Given the description of an element on the screen output the (x, y) to click on. 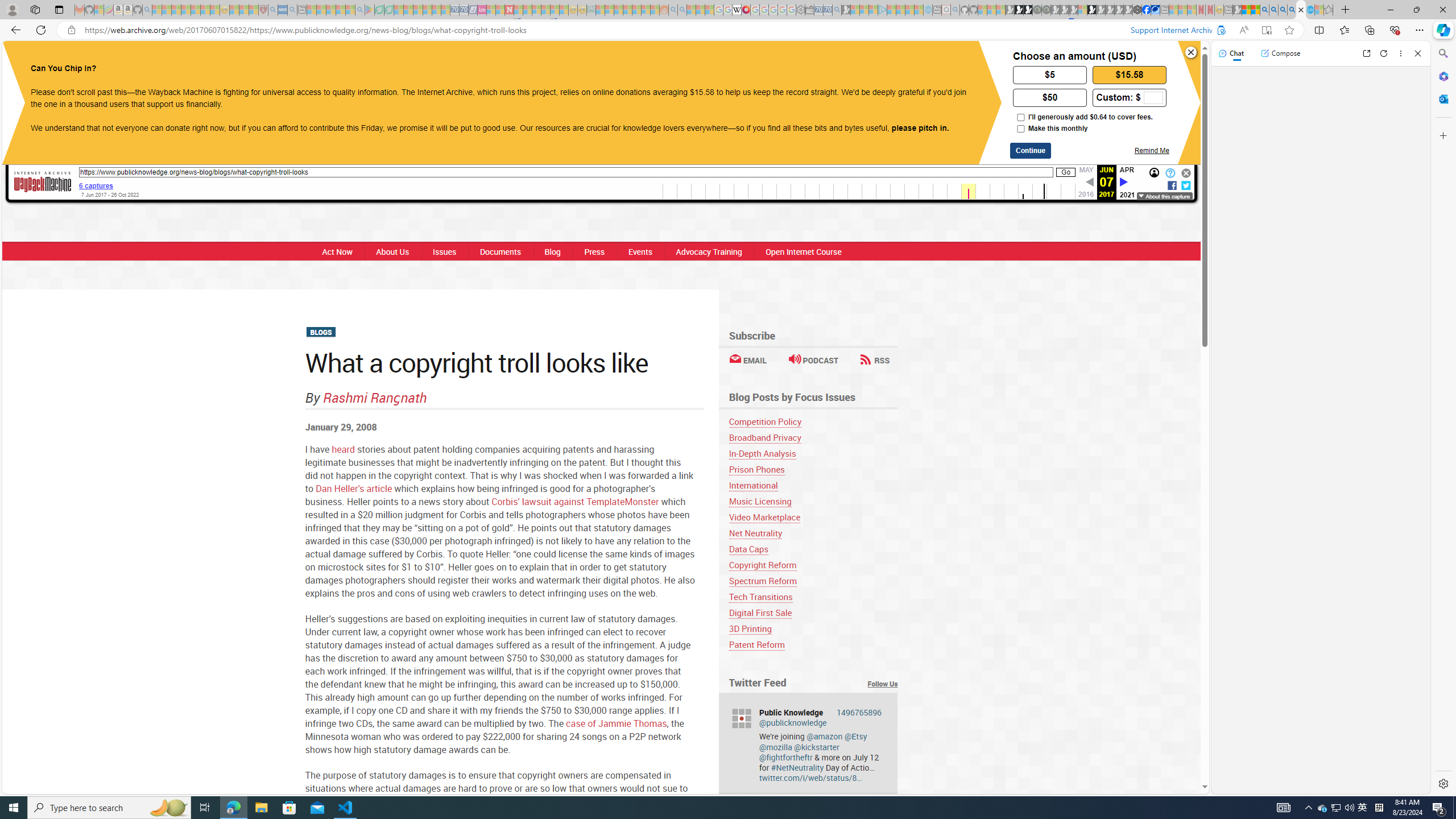
YOUTUBE (737, 60)
Pets - MSN - Sleeping (340, 9)
Events (640, 251)
In-Depth Analysis (762, 453)
MediaWiki (745, 9)
Music Licensing (760, 500)
Patent Reform (813, 644)
Net Neutrality (755, 532)
Digital First Sale (760, 612)
About Us (392, 251)
